Given the description of an element on the screen output the (x, y) to click on. 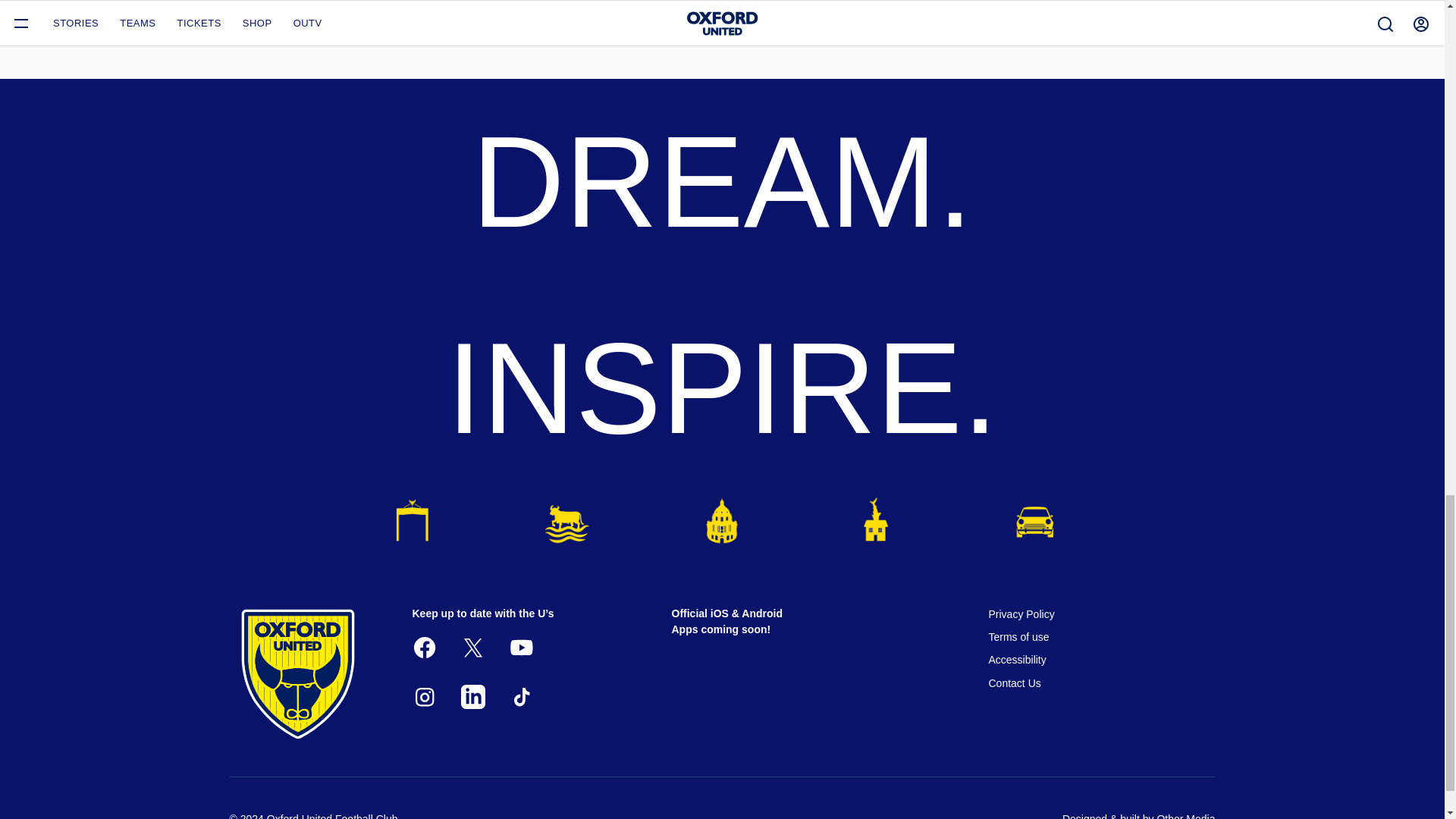
3rd party ad content (721, 27)
3rd party ad content (973, 27)
3rd party ad content (469, 27)
